Given the description of an element on the screen output the (x, y) to click on. 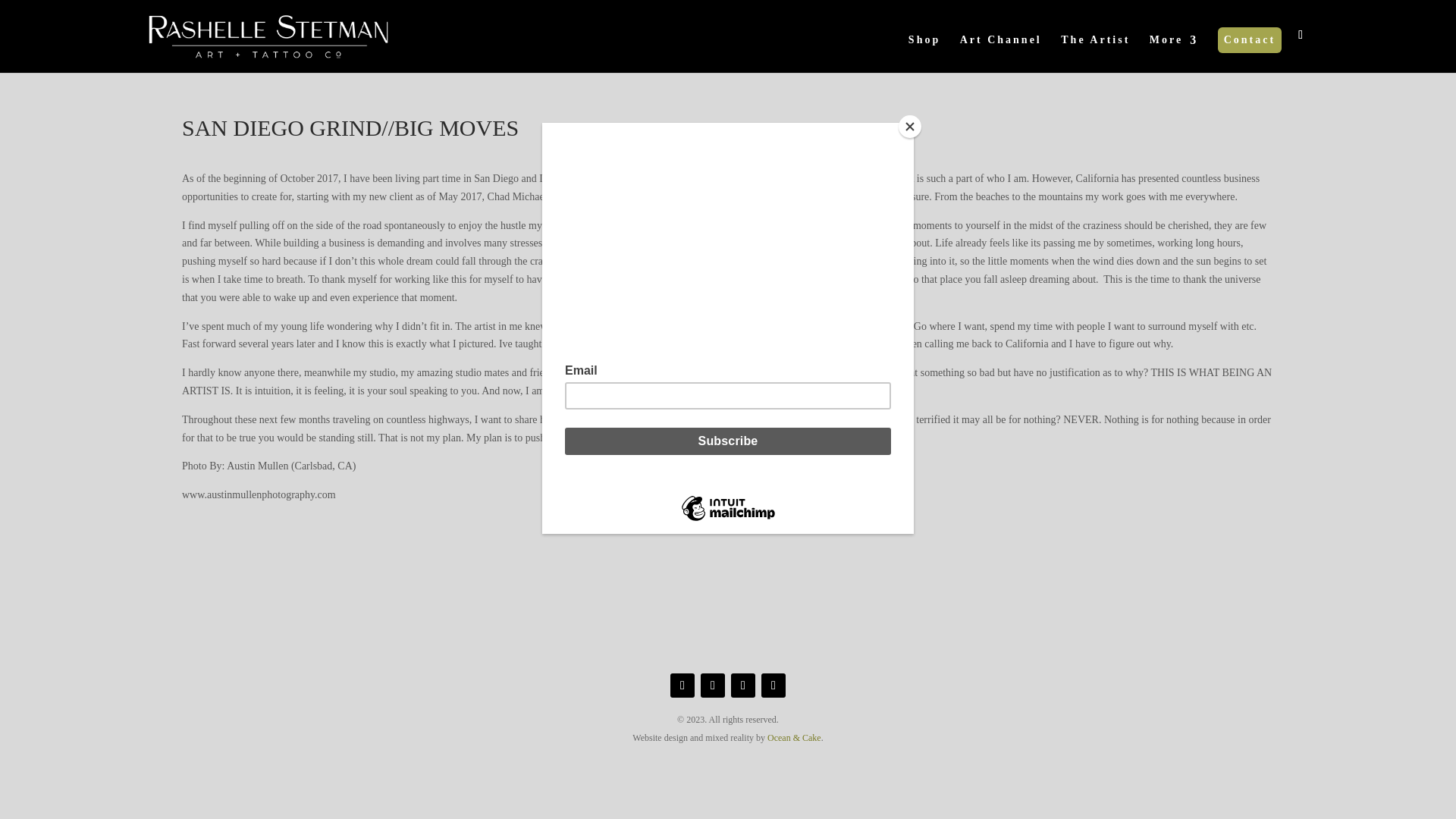
Follow on TikTok (712, 685)
Contact (1249, 40)
Follow on Instagram (773, 685)
Follow on Youtube (742, 685)
Follow on Facebook (681, 685)
More (1174, 53)
The Artist (1095, 53)
Art Channel (1000, 53)
